Given the description of an element on the screen output the (x, y) to click on. 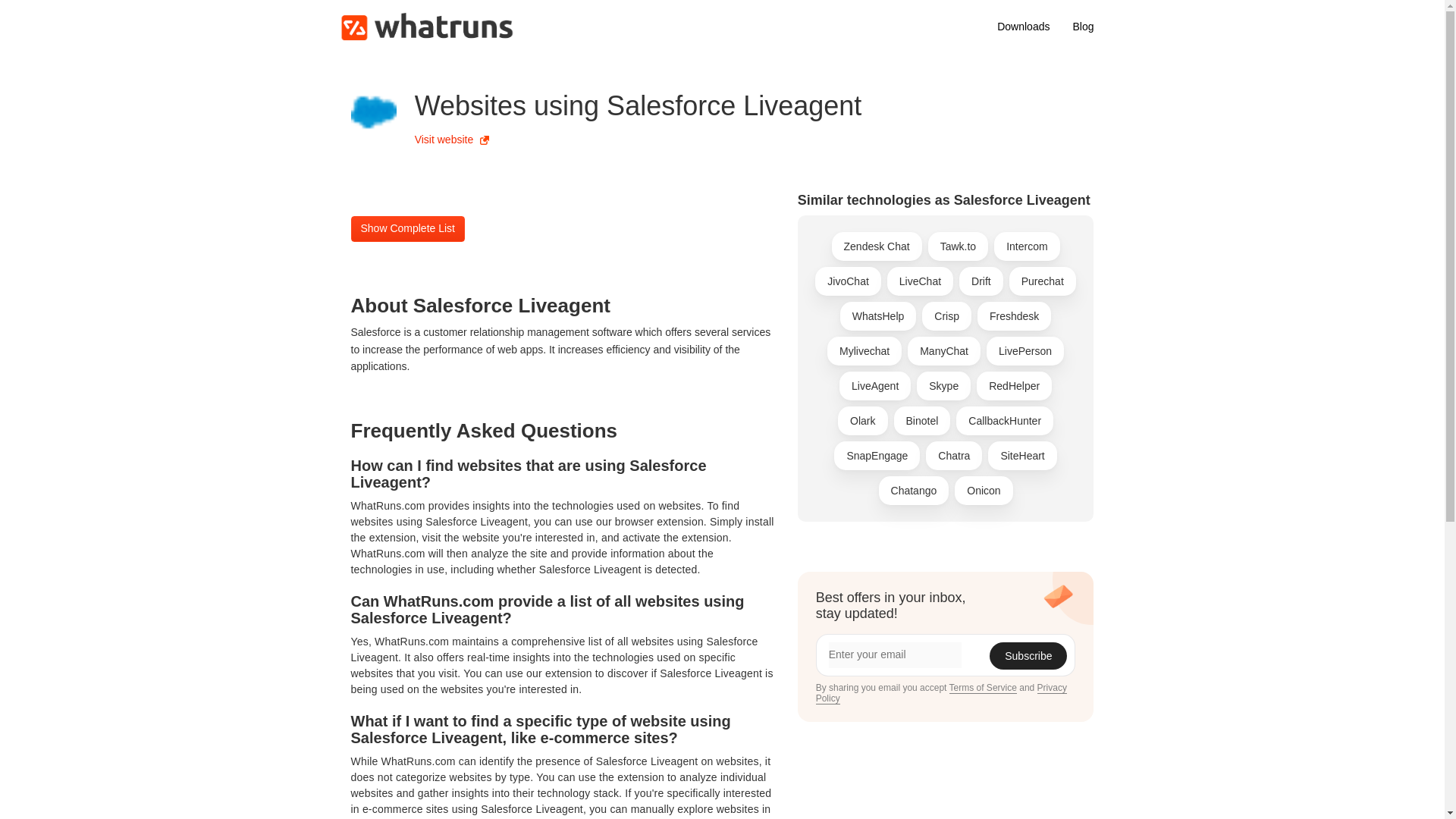
Skype (944, 385)
Chatra (953, 455)
Visit website (451, 139)
Privacy Policy (941, 693)
SiteHeart (1022, 455)
Blog (1083, 26)
Olark (862, 420)
RedHelper (1013, 385)
Drift (981, 280)
JivoChat (847, 280)
Purechat (1042, 280)
LiveAgent (875, 385)
Binotel (921, 420)
Onicon (983, 490)
Freshdesk (1013, 316)
